Given the description of an element on the screen output the (x, y) to click on. 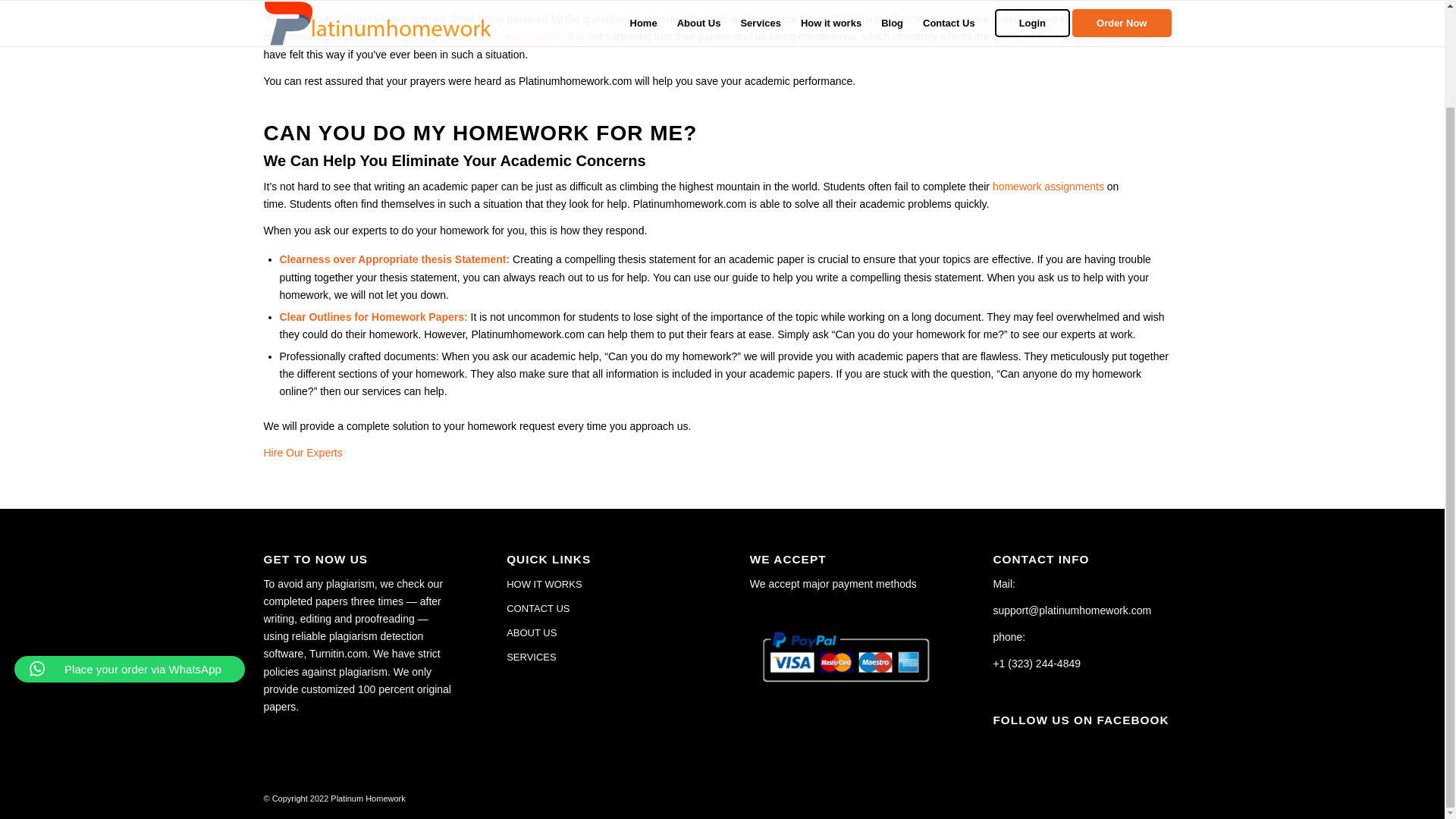
SERVICES (600, 657)
homework assignments (1047, 186)
submit high-quality homework papers (473, 36)
ABOUT US (600, 632)
HOW IT WORKS (600, 584)
Hire Our Experts (302, 452)
CONTACT US (600, 608)
